Given the description of an element on the screen output the (x, y) to click on. 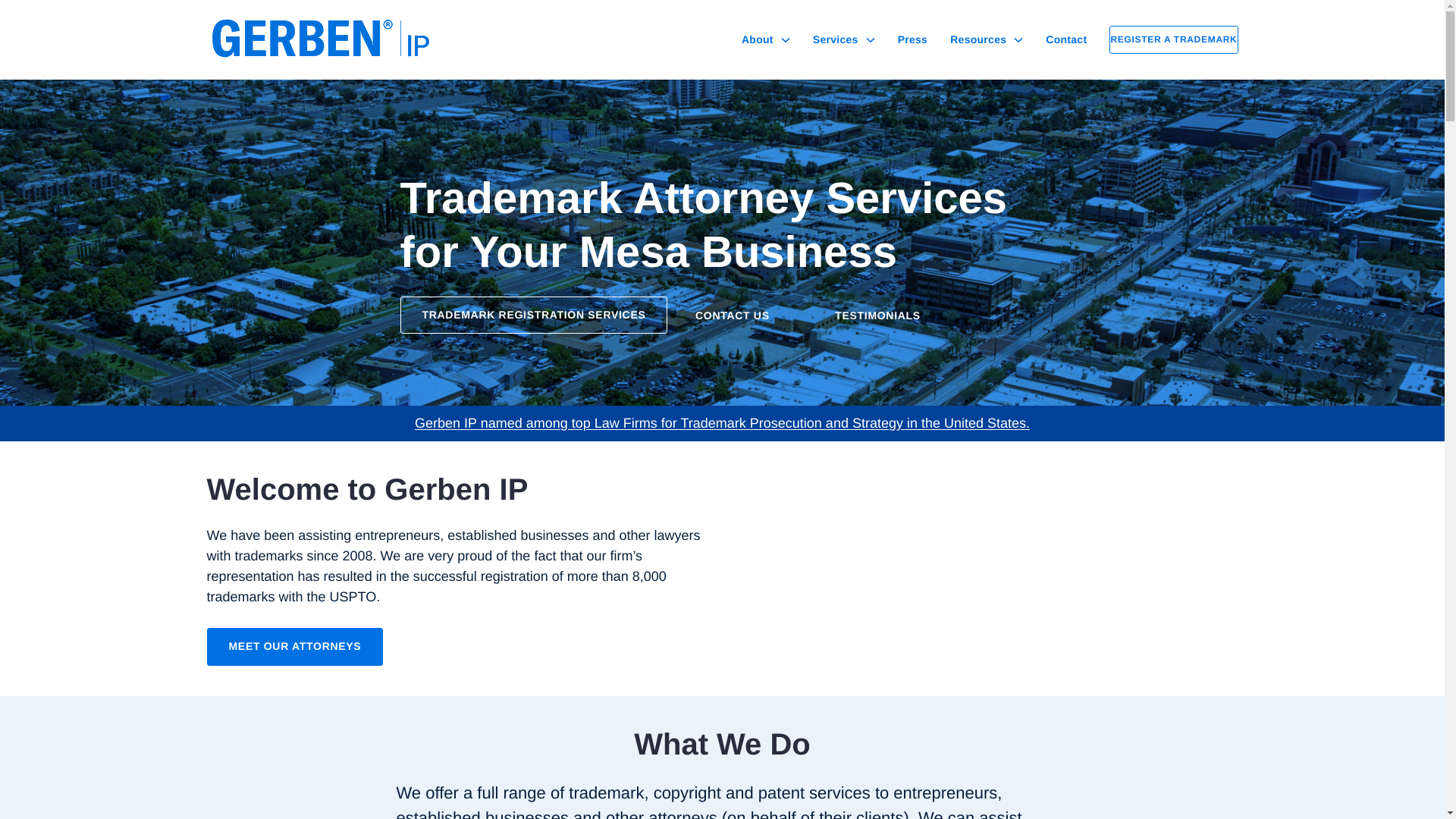
Press (913, 39)
Contact (1065, 39)
About (757, 39)
CONTACT US (741, 314)
Gerben IP (327, 38)
Resources (978, 39)
TRADEMARK REGISTRATION SERVICES (534, 315)
